Given the description of an element on the screen output the (x, y) to click on. 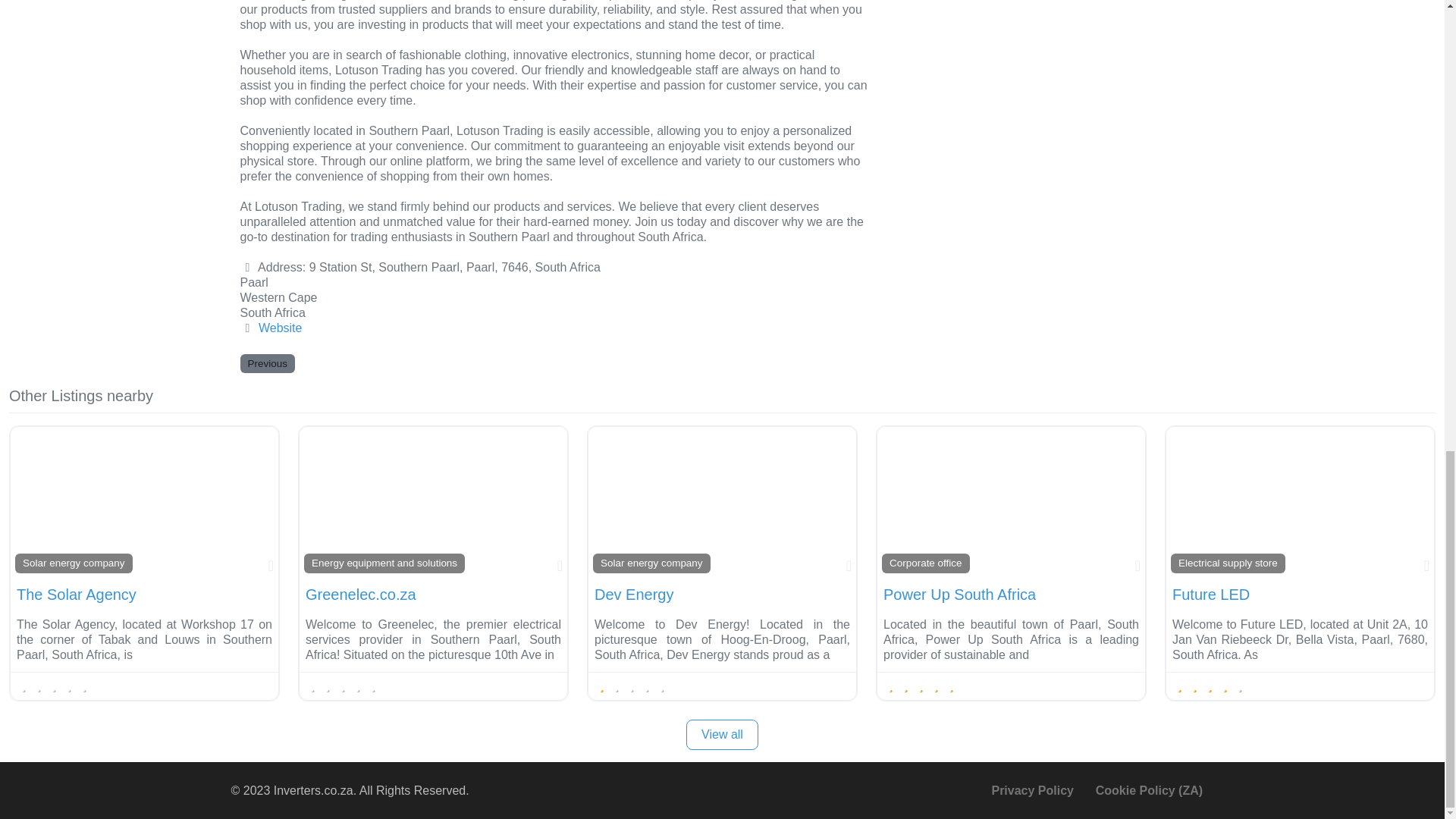
Solar energy company (651, 562)
Greenelec.co.za (360, 594)
Solar energy company (73, 562)
Website (280, 327)
The Solar Agency (76, 594)
Previous (267, 363)
Energy equipment and solutions (384, 562)
